Given the description of an element on the screen output the (x, y) to click on. 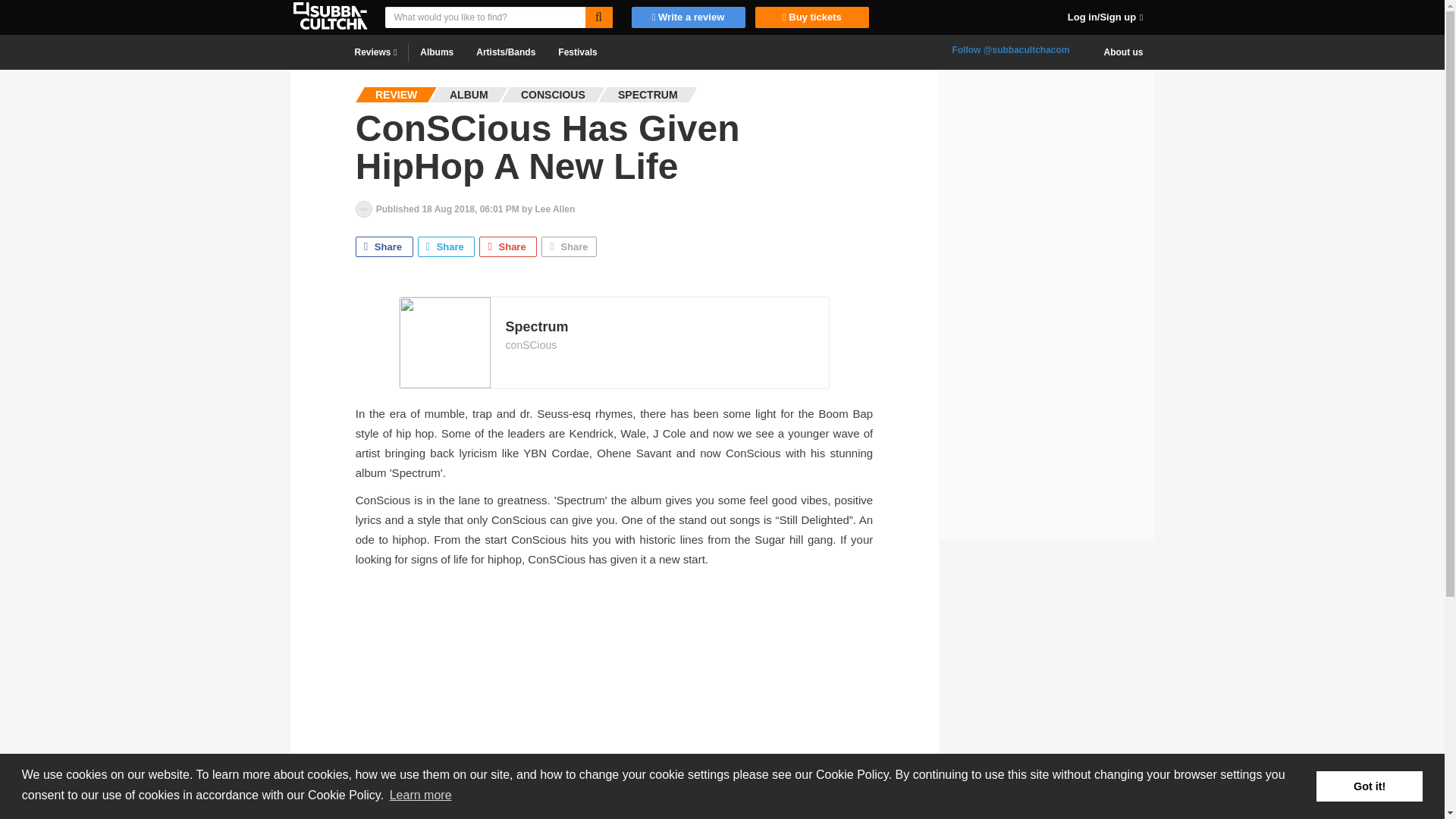
Write a review (688, 16)
Got it! (1369, 786)
Buy tickets (808, 16)
Buy tickets (812, 16)
Albums (436, 52)
conSCious (531, 344)
Share (508, 246)
Festivals (577, 52)
About us (1123, 52)
Learn more (420, 794)
Write a review (687, 16)
Share (384, 246)
Share (568, 246)
Reviews (374, 52)
Share (446, 246)
